Given the description of an element on the screen output the (x, y) to click on. 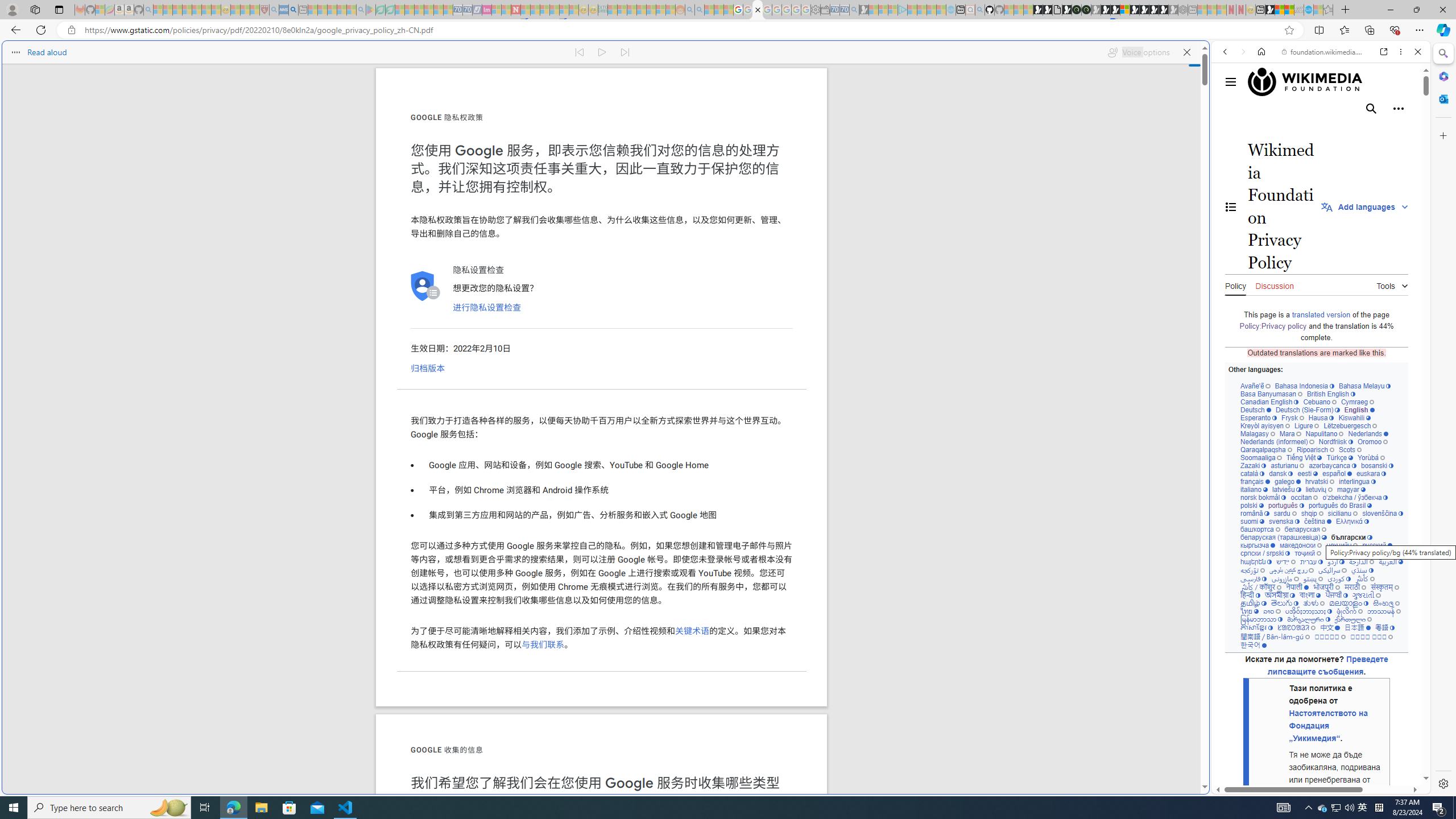
asturianu (1287, 465)
